Given the description of an element on the screen output the (x, y) to click on. 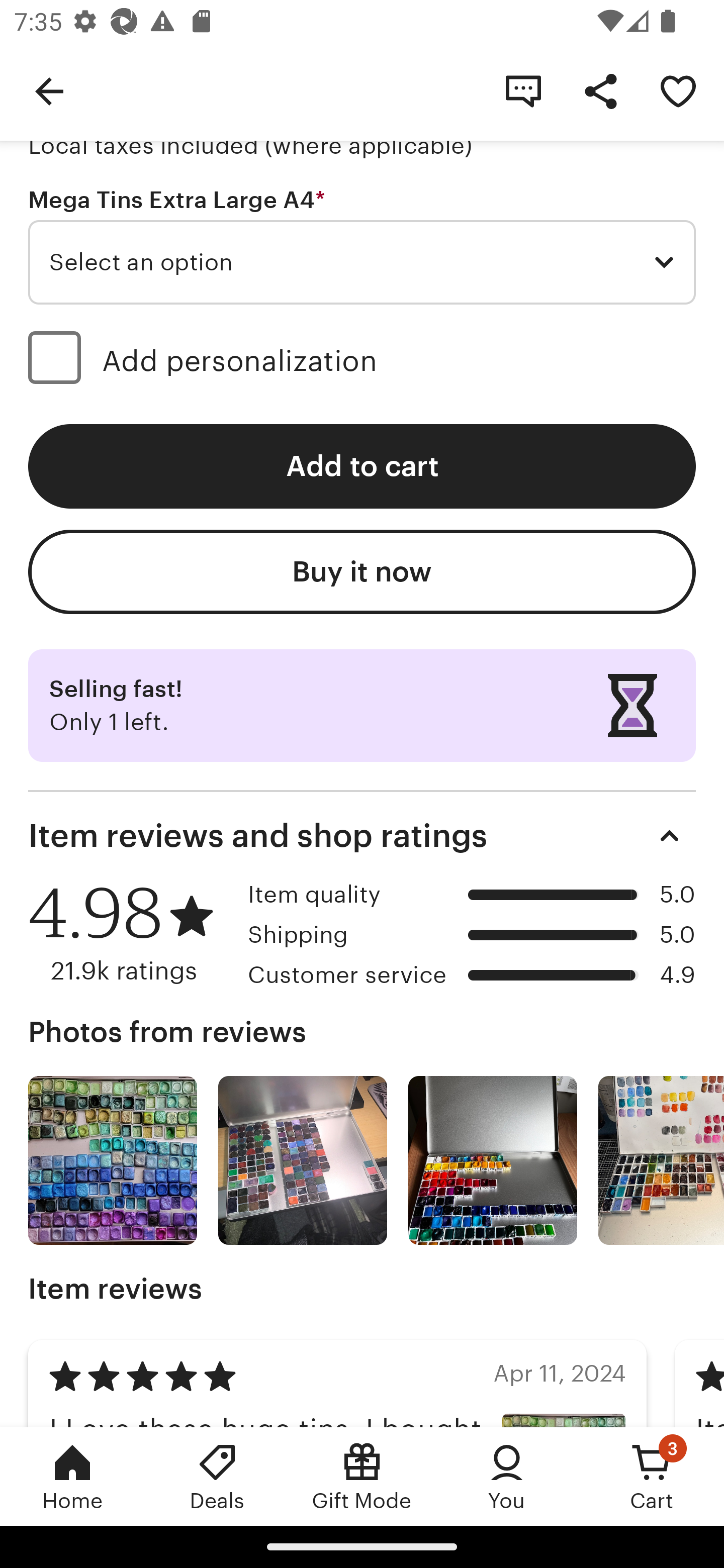
Navigate up (49, 90)
Contact shop (523, 90)
Share (600, 90)
Select an option (361, 261)
Add personalization (optional) Add personalization (362, 360)
Add to cart (361, 466)
Buy it now (361, 571)
Item reviews and shop ratings (362, 835)
4.98 21.9k ratings (130, 932)
Photo from review (112, 1159)
Photo from review (302, 1159)
Photo from review (492, 1159)
Photo from review (661, 1159)
Deals (216, 1475)
Gift Mode (361, 1475)
You (506, 1475)
Cart, 3 new notifications Cart (651, 1475)
